Given the description of an element on the screen output the (x, y) to click on. 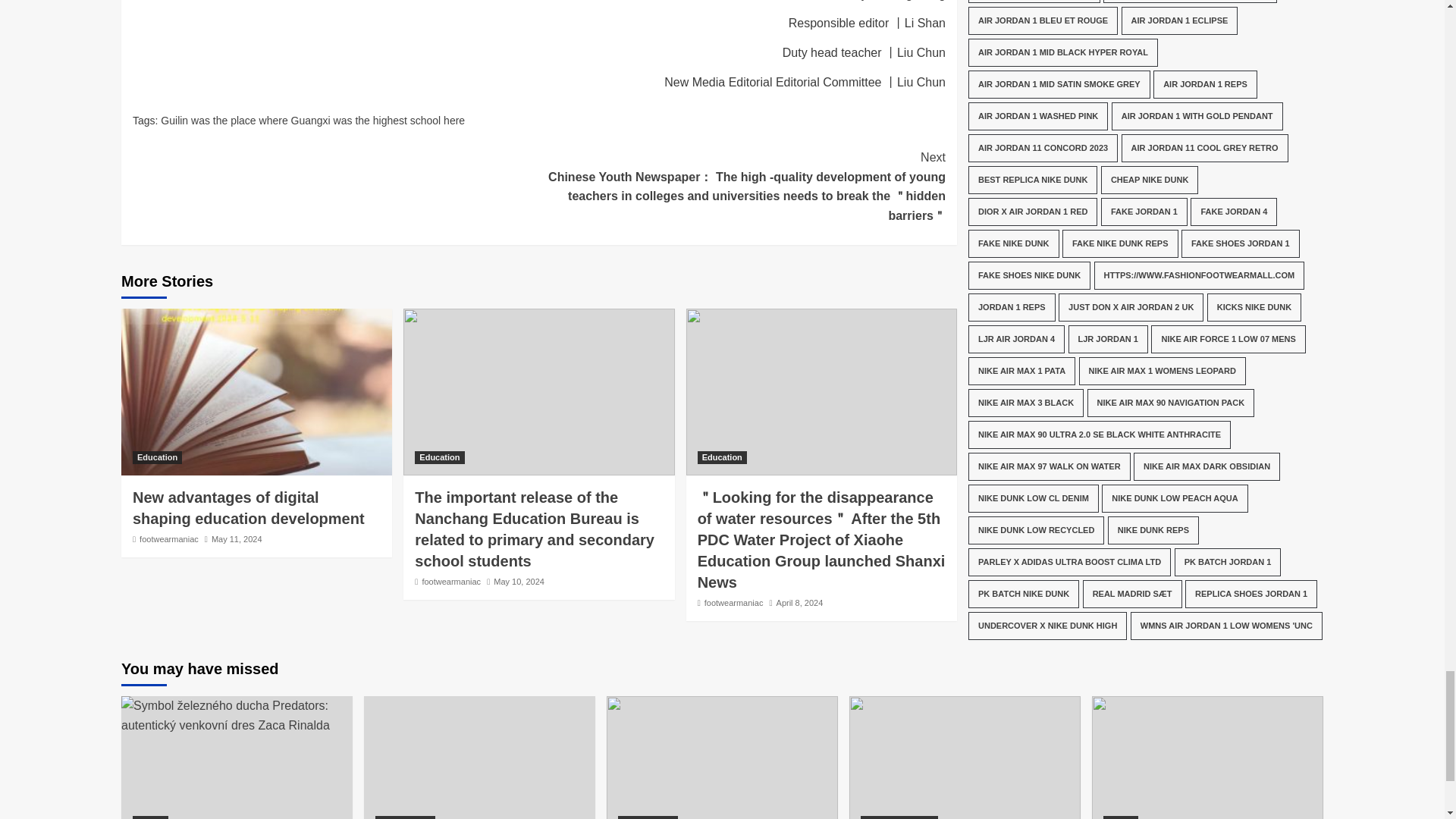
May 10, 2024 (518, 581)
Education (157, 457)
footwearmaniac (451, 581)
Education (721, 457)
New advantages of digital shaping education development (248, 507)
May 11, 2024 (236, 538)
Education (439, 457)
footwearmaniac (168, 538)
footwearmaniac (733, 602)
